Given the description of an element on the screen output the (x, y) to click on. 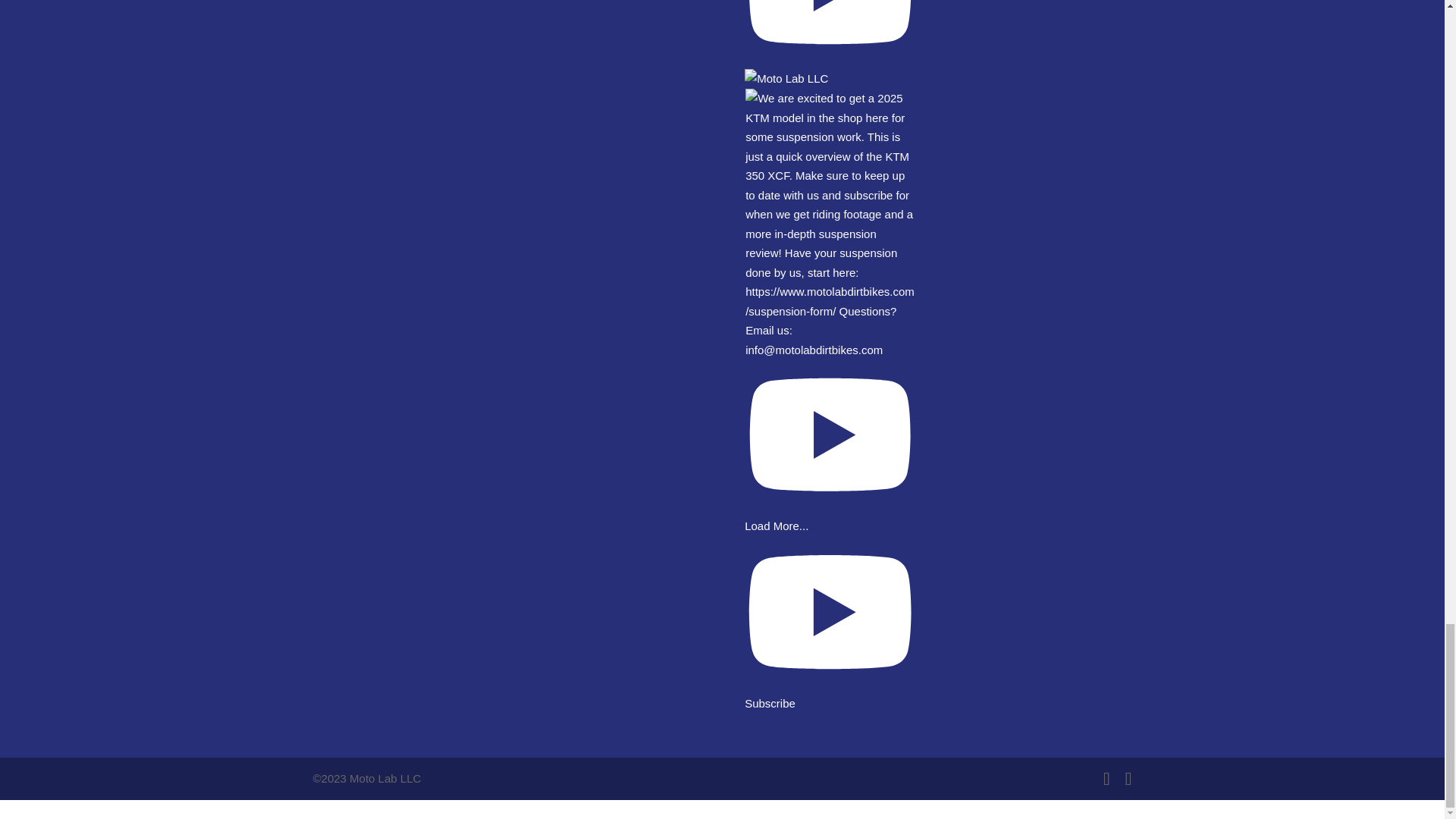
Subscribe (829, 693)
Load More... (776, 525)
Moto Lab LLC (829, 43)
